Given the description of an element on the screen output the (x, y) to click on. 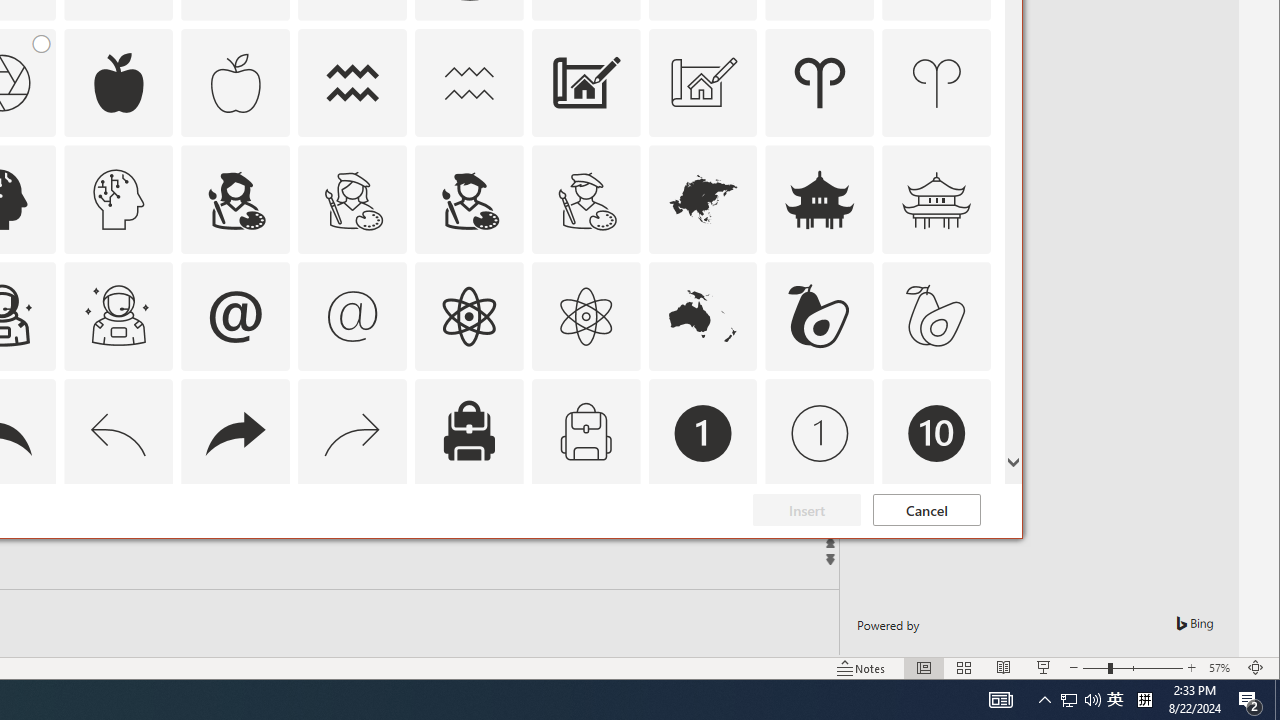
AutomationID: Icons_Badge6_M (235, 550)
AutomationID: Icons_At (235, 316)
AutomationID: Icons_Apple (118, 82)
Notification Chevron (1044, 699)
AutomationID: Icons_Badge9_M (936, 550)
AutomationID: Icons_Aries_M (936, 82)
AutomationID: Icons_Atom_M (586, 316)
